Given the description of an element on the screen output the (x, y) to click on. 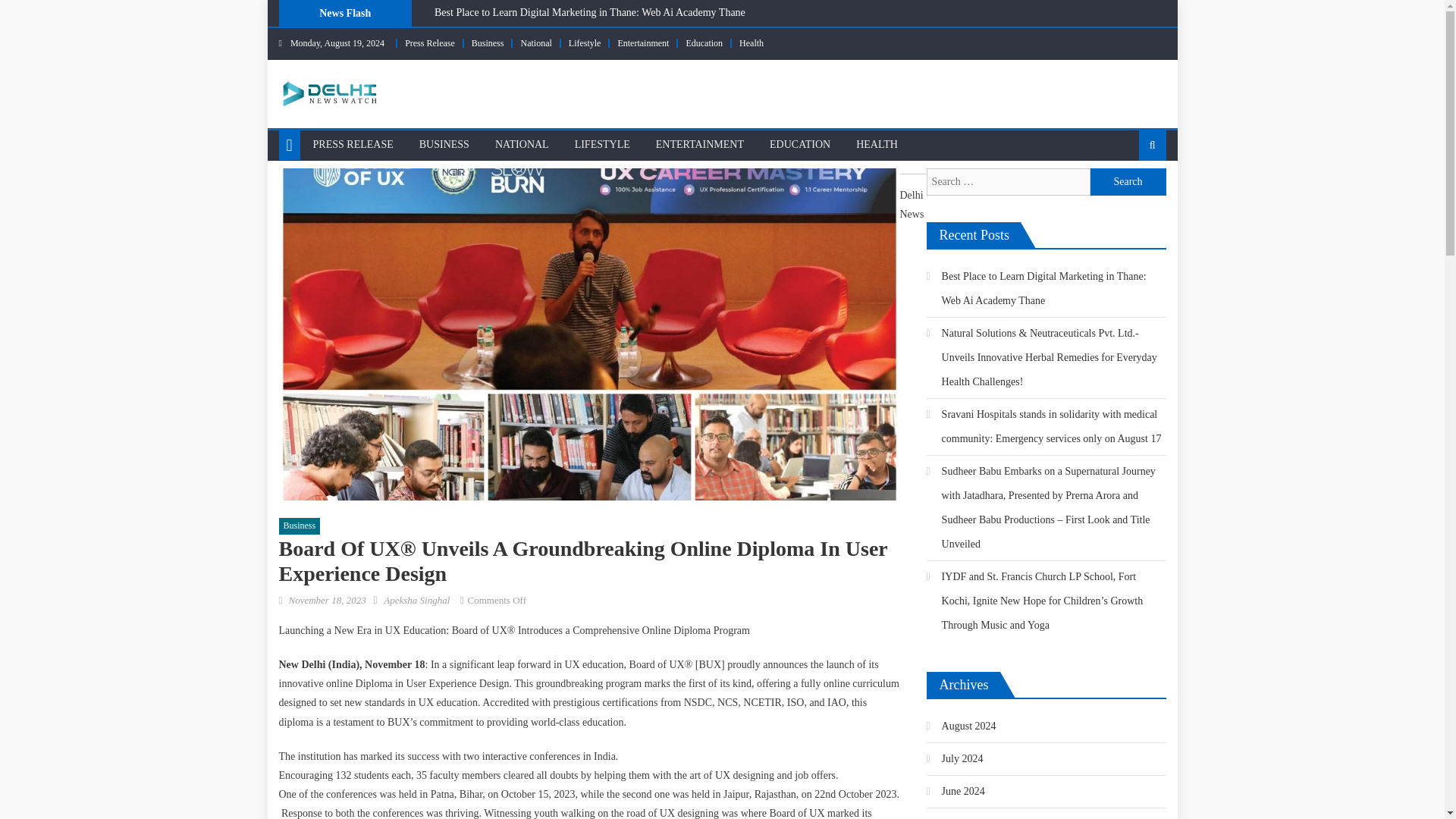
November 18, 2023 (326, 600)
National (535, 42)
HEALTH (876, 144)
Health (750, 42)
Press Release (429, 42)
LIFESTYLE (602, 144)
Business (299, 525)
ENTERTAINMENT (700, 144)
Lifestyle (585, 42)
